Given the description of an element on the screen output the (x, y) to click on. 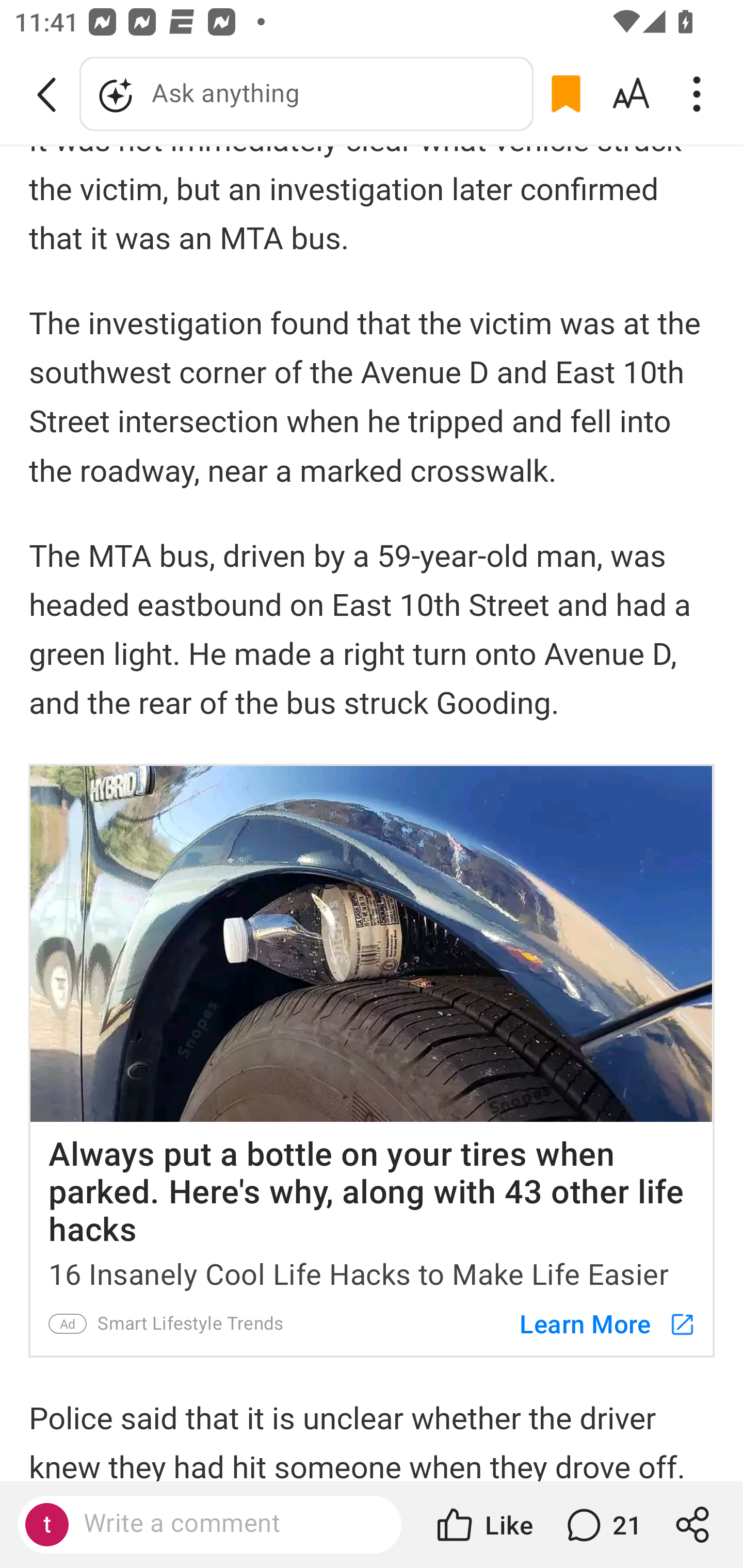
Ask anything (306, 93)
16 Insanely Cool Life Hacks to Make Life Easier (371, 1270)
Learn More (597, 1323)
Smart Lifestyle Trends (190, 1323)
Like (483, 1524)
21 (601, 1524)
Write a comment (226, 1523)
